Given the description of an element on the screen output the (x, y) to click on. 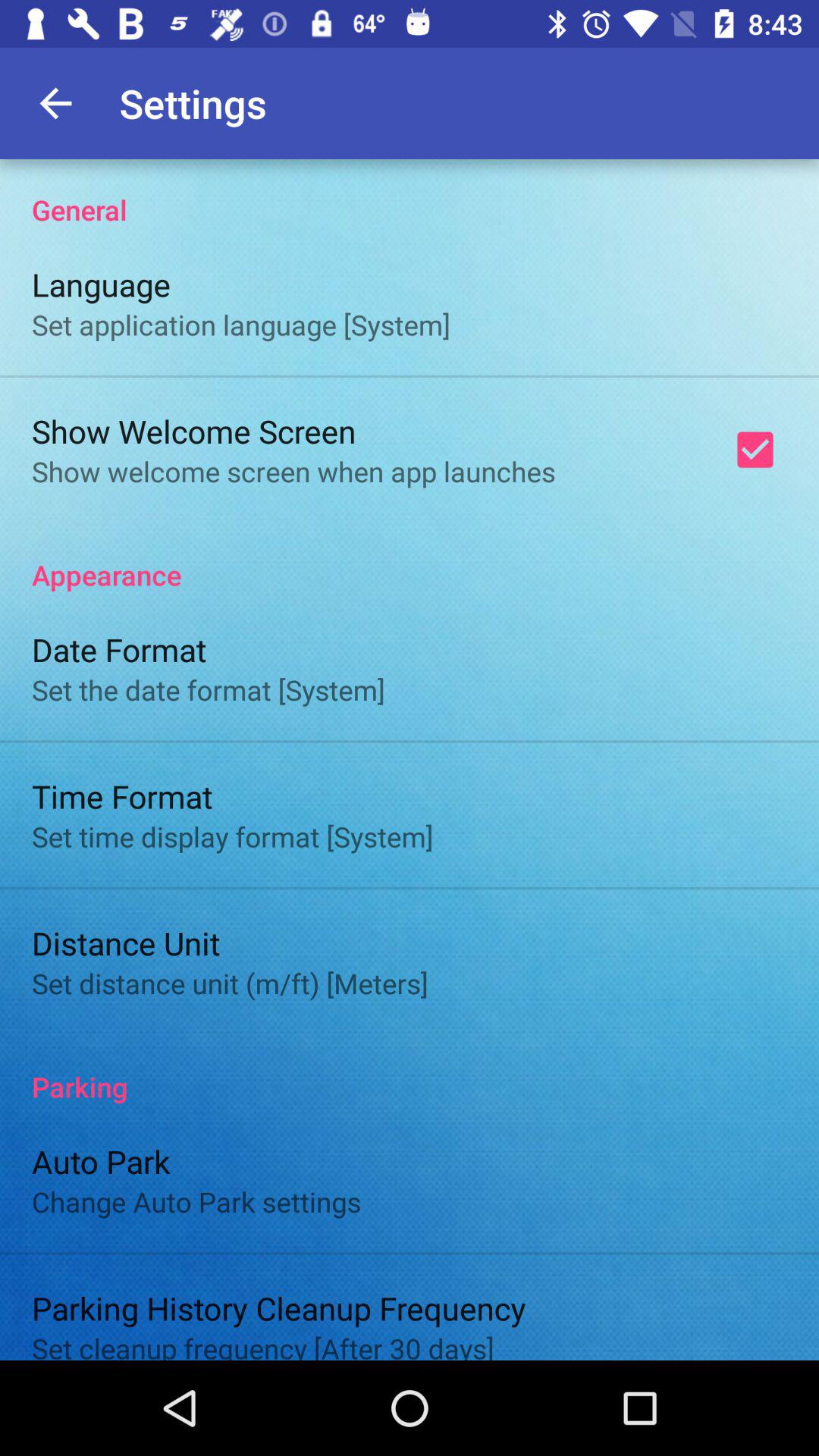
flip to the set application language item (240, 324)
